Given the description of an element on the screen output the (x, y) to click on. 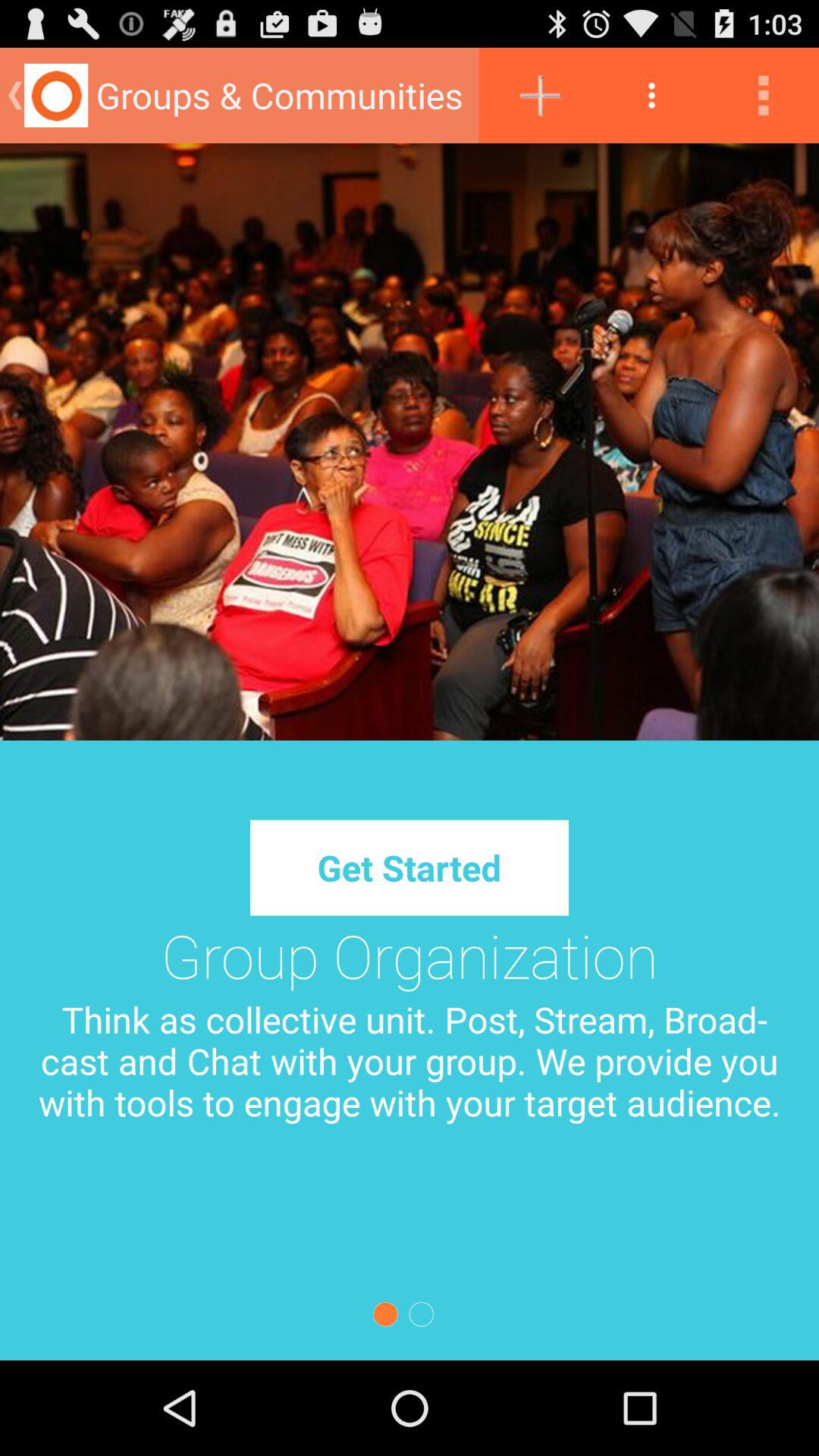
click on the plus icon (536, 95)
